Given the description of an element on the screen output the (x, y) to click on. 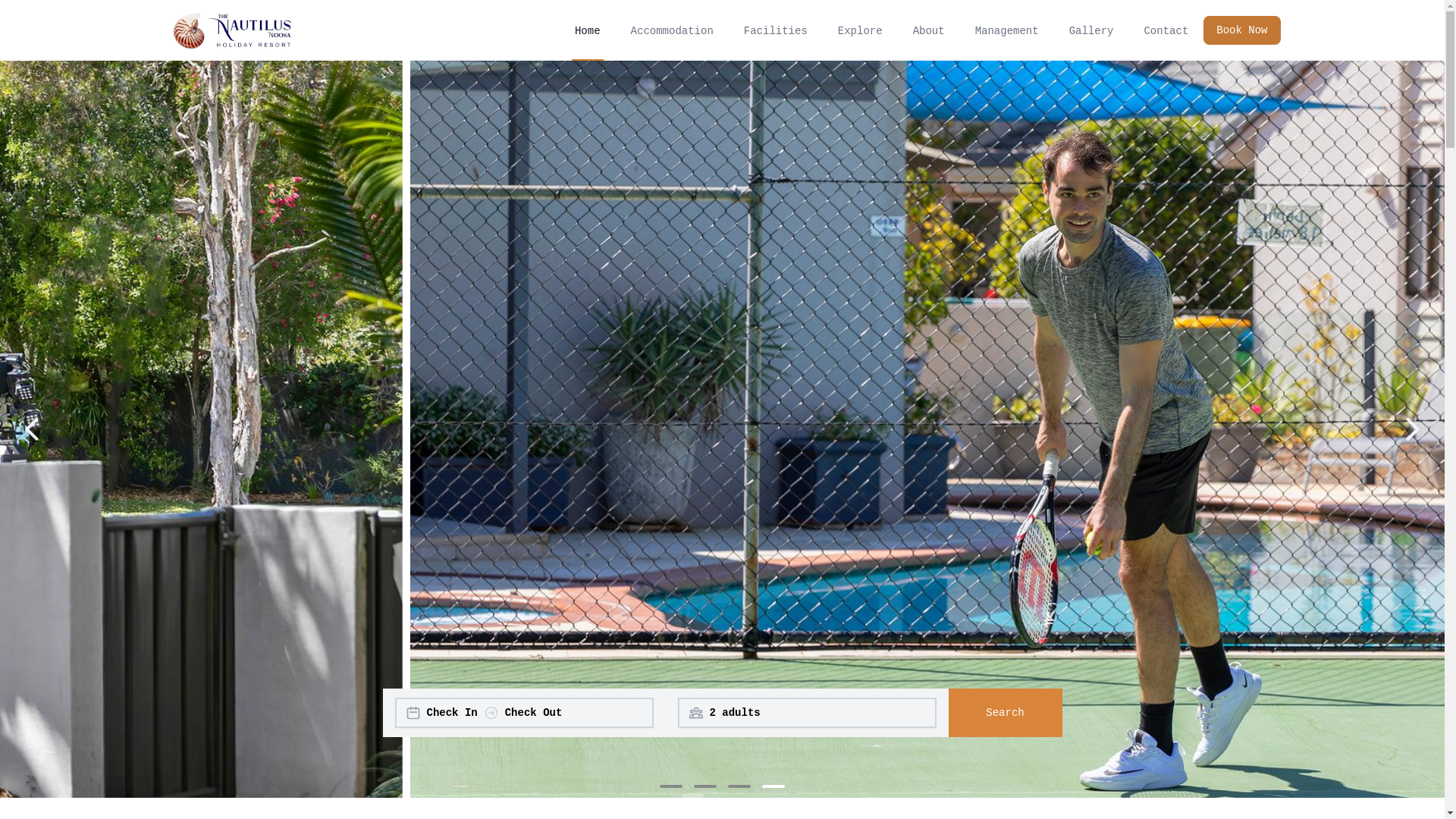
Book Now Element type: text (1235, 30)
Explore Element type: text (859, 30)
Management Element type: text (1006, 30)
Gallery Element type: text (1091, 30)
Home Element type: text (587, 30)
Accommodation Element type: text (671, 30)
Book Now Element type: text (1241, 29)
About Element type: text (928, 30)
Search Element type: text (1004, 712)
Contact Element type: text (1165, 30)
Facilities Element type: text (775, 30)
